Given the description of an element on the screen output the (x, y) to click on. 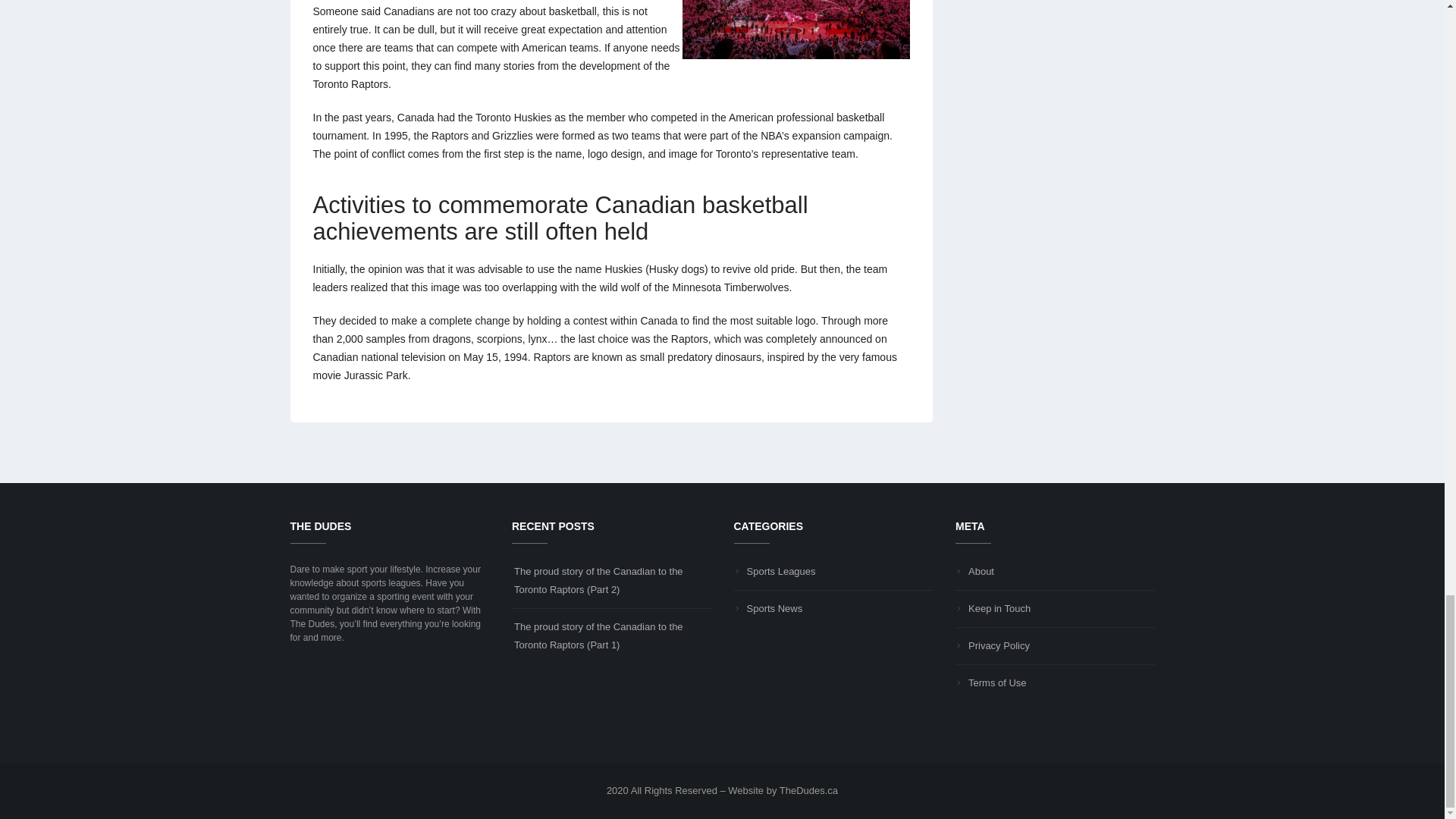
Sports Leagues (775, 571)
